Given the description of an element on the screen output the (x, y) to click on. 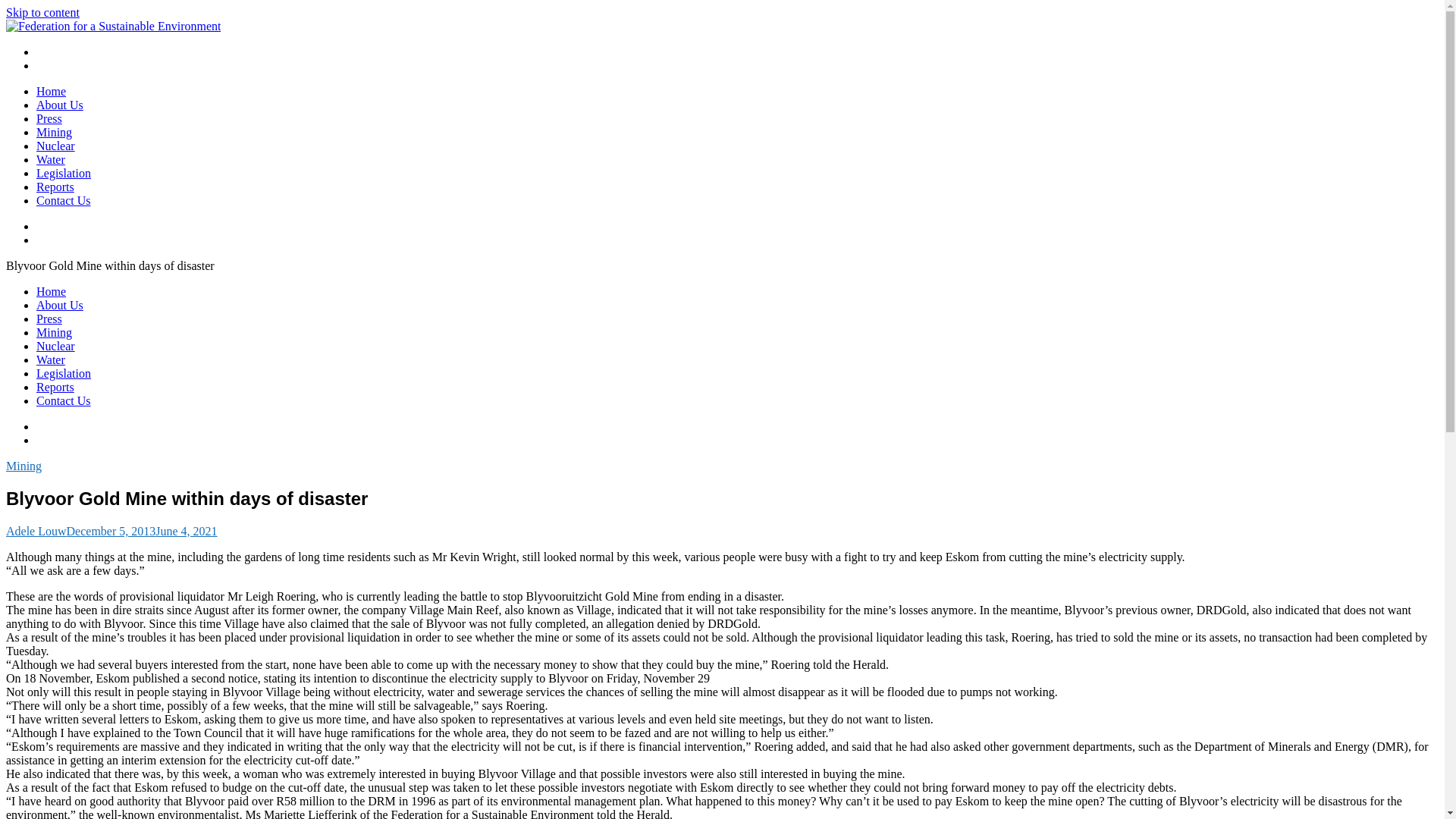
Legislation (63, 173)
Mining (23, 465)
Water (50, 159)
Contact Us (63, 400)
Press (49, 118)
Mining (53, 332)
Home (50, 291)
About Us (59, 305)
December 5, 2013June 4, 2021 (141, 530)
Contact Us (63, 200)
Federation for a Sustainable Environment (106, 51)
Legislation (63, 373)
Home (50, 91)
Water (50, 359)
About Us (59, 104)
